Given the description of an element on the screen output the (x, y) to click on. 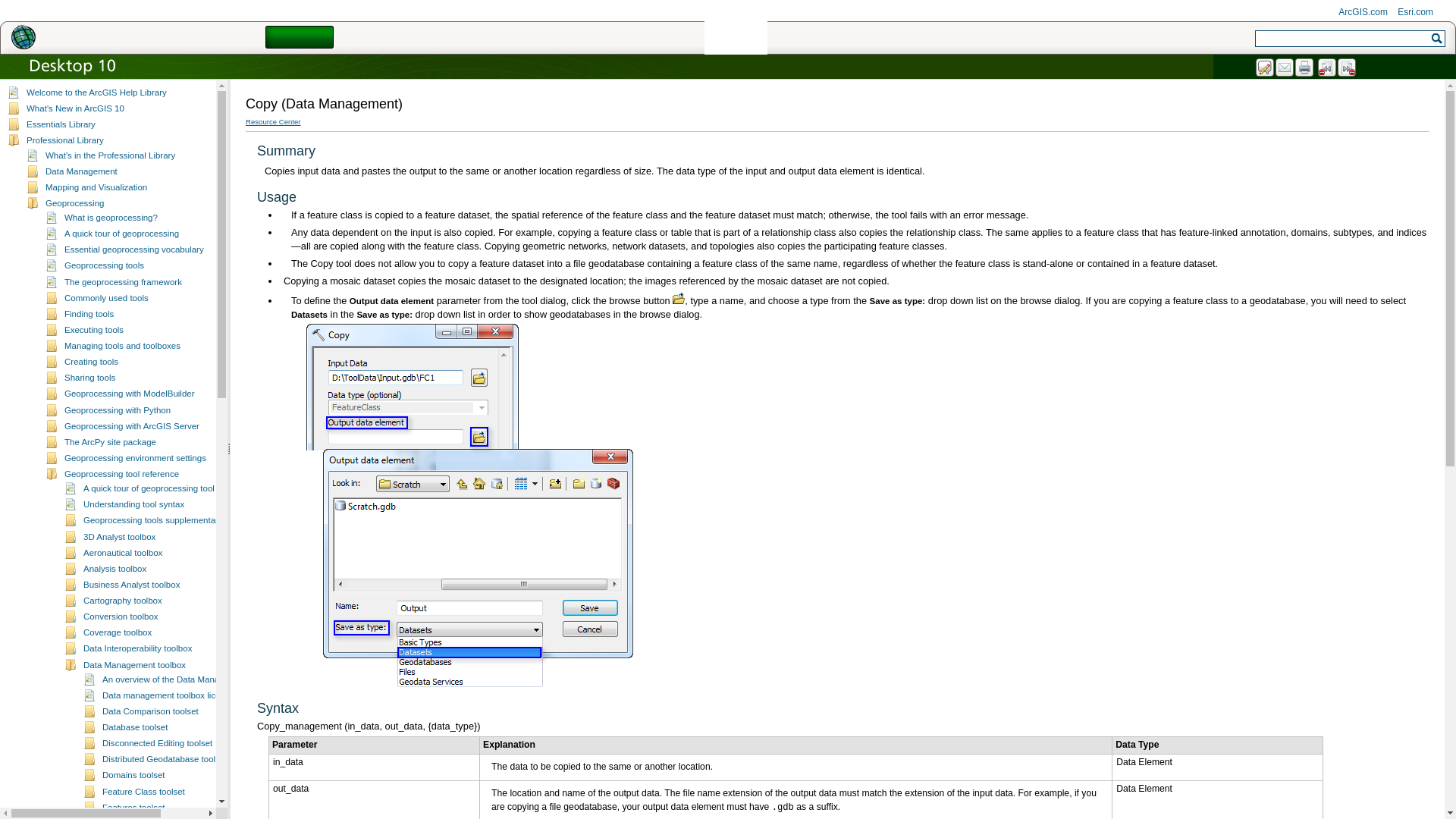
The ArcPy site package (109, 441)
Professional Library (64, 139)
Mapping and Visualization (96, 186)
Feedback (1265, 67)
Geoprocessing (74, 203)
Essentials Library (61, 123)
A quick tour of geoprocessing tool references (169, 488)
Geoprocessing environment settings (135, 457)
What is geoprocessing? (110, 216)
What's New in ArcGIS 10 (74, 108)
